Given the description of an element on the screen output the (x, y) to click on. 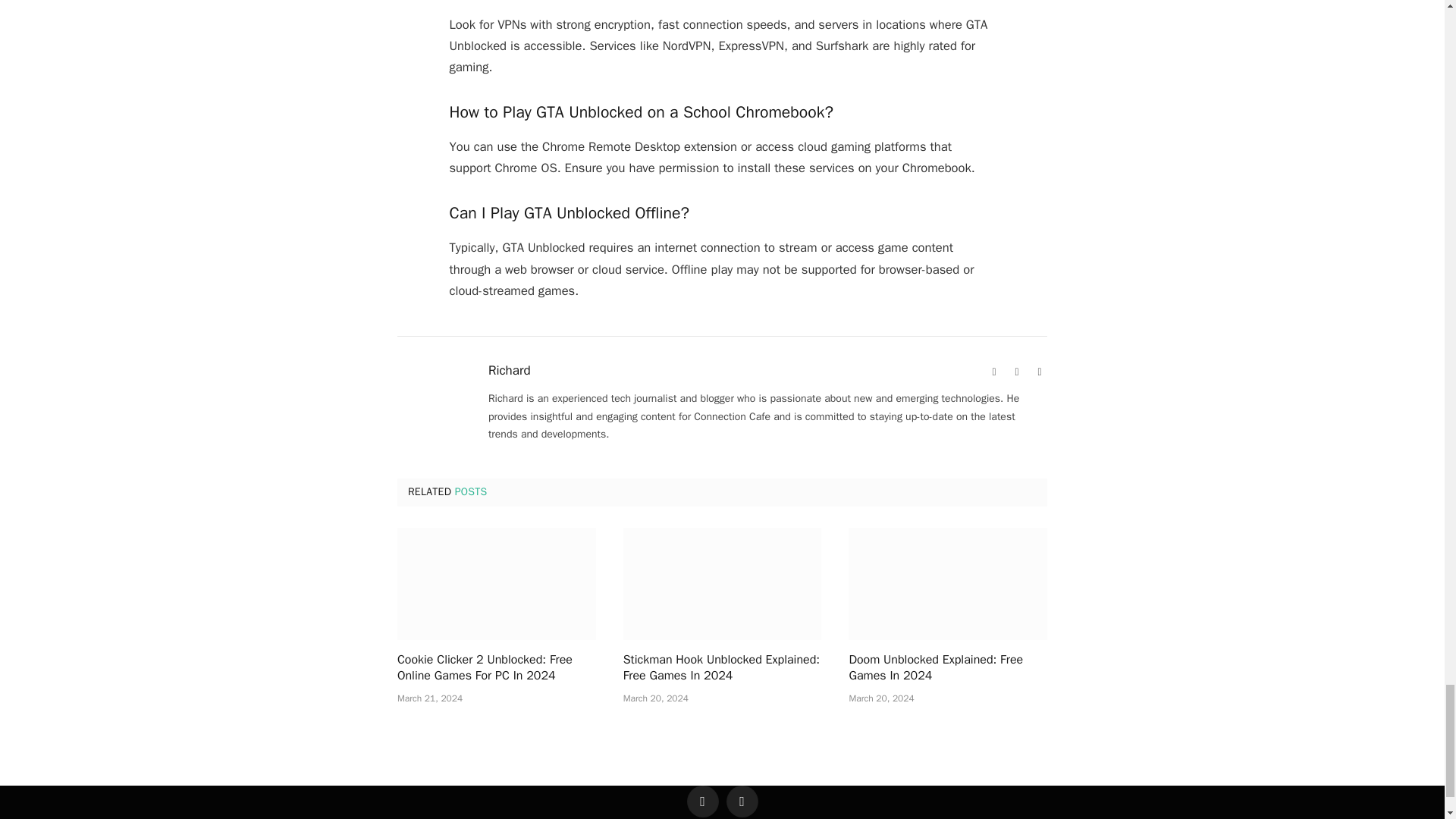
Website (994, 372)
Cookie Clicker 2 Unblocked: Free Online Games For PC In 2024 (496, 583)
Posts by Richard (509, 370)
Doom Unblocked Explained: Free Games In 2024 (947, 583)
Facebook (1017, 372)
Stickman Hook Unblocked Explained: Free Games In 2024 (722, 583)
Twitter (1039, 372)
